Given the description of an element on the screen output the (x, y) to click on. 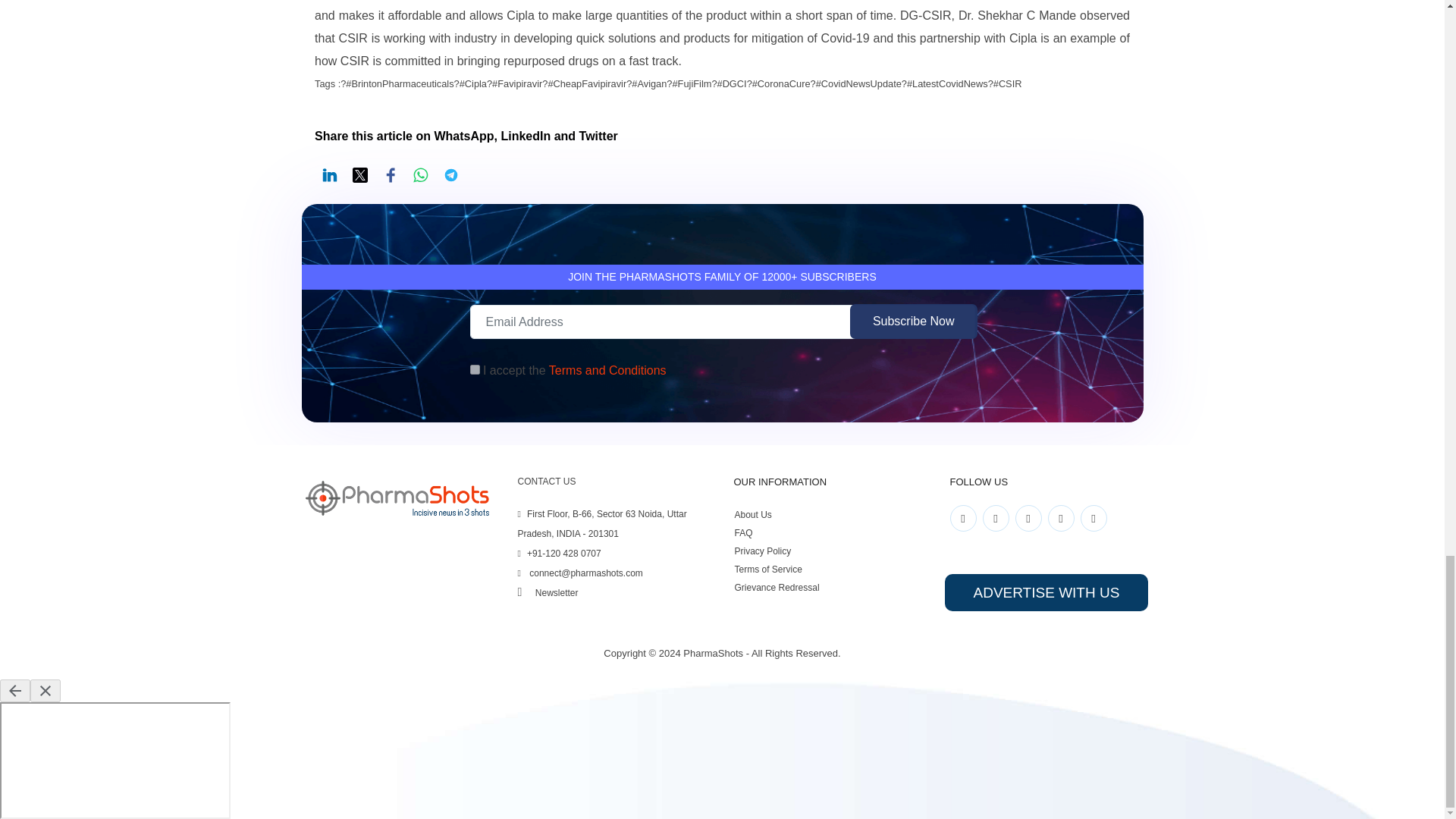
Subscribe Now (913, 321)
on (475, 369)
Terms and Conditions (607, 369)
Advertise with us (1046, 592)
